Given the description of an element on the screen output the (x, y) to click on. 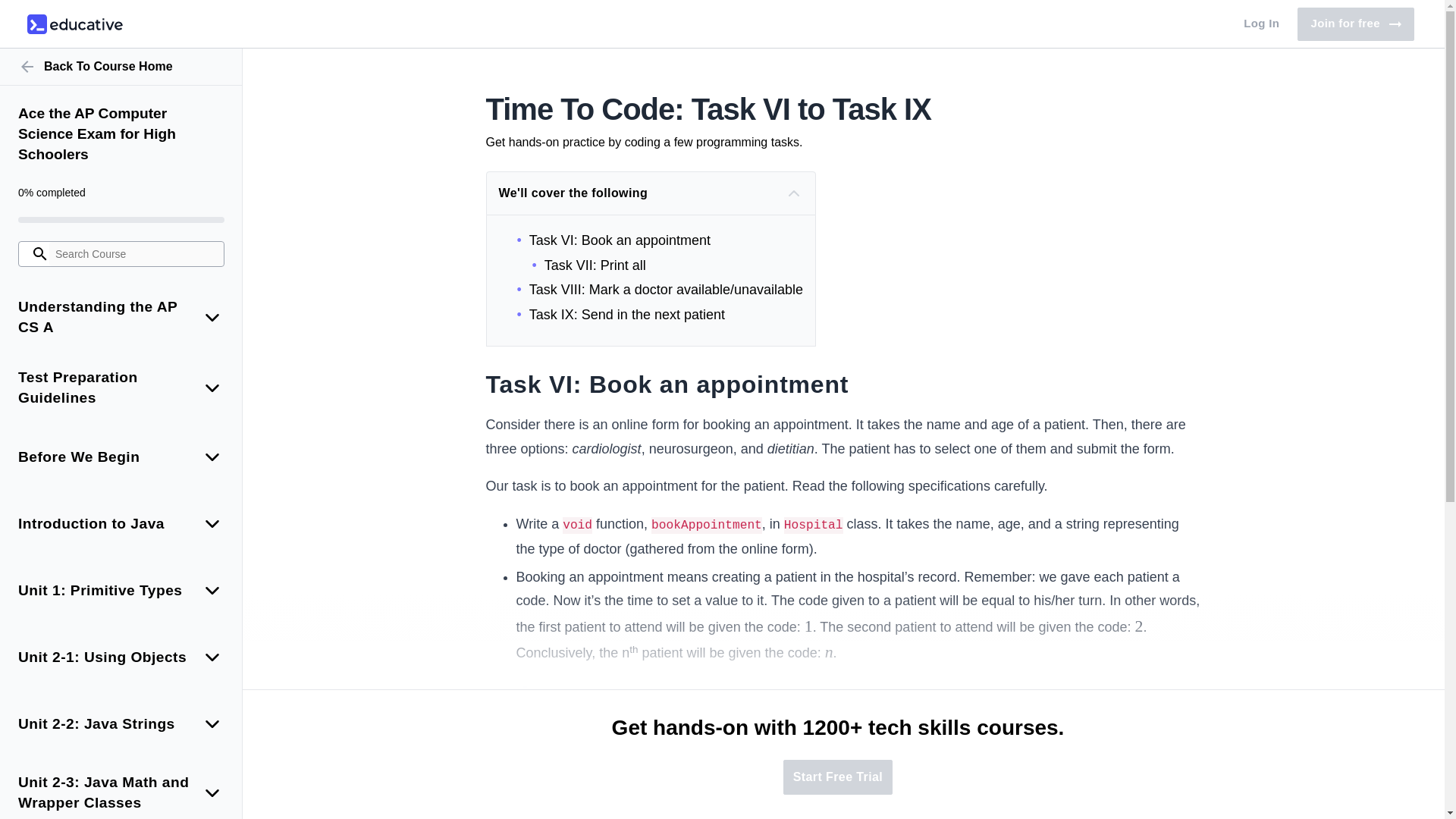
educative.io (74, 23)
Log In (1261, 23)
Back To Course Home (121, 66)
Ace the AP Computer Science Exam for High Schoolers (1355, 23)
